Given the description of an element on the screen output the (x, y) to click on. 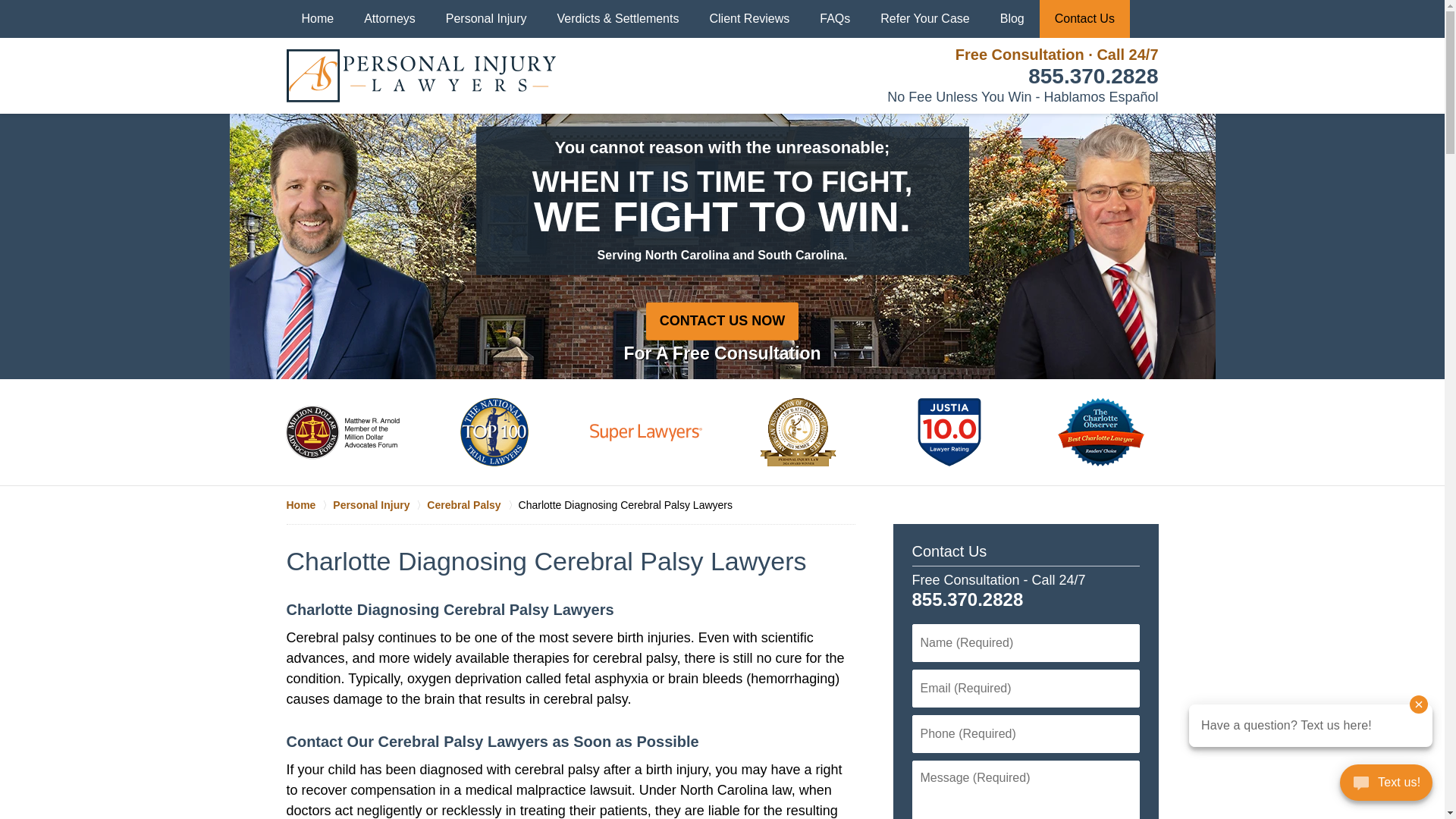
Personal Injury (485, 18)
Back to Home (421, 75)
Home (317, 18)
Client Reviews (749, 18)
Cerebral Palsy (472, 505)
Attorneys (389, 18)
Home (309, 505)
Personal Injury (379, 505)
Refer Your Case (924, 18)
Contact Us (949, 550)
FAQs (834, 18)
Blog (1012, 18)
CONTACT US NOW (722, 320)
Contact Us (1084, 18)
